Given the description of an element on the screen output the (x, y) to click on. 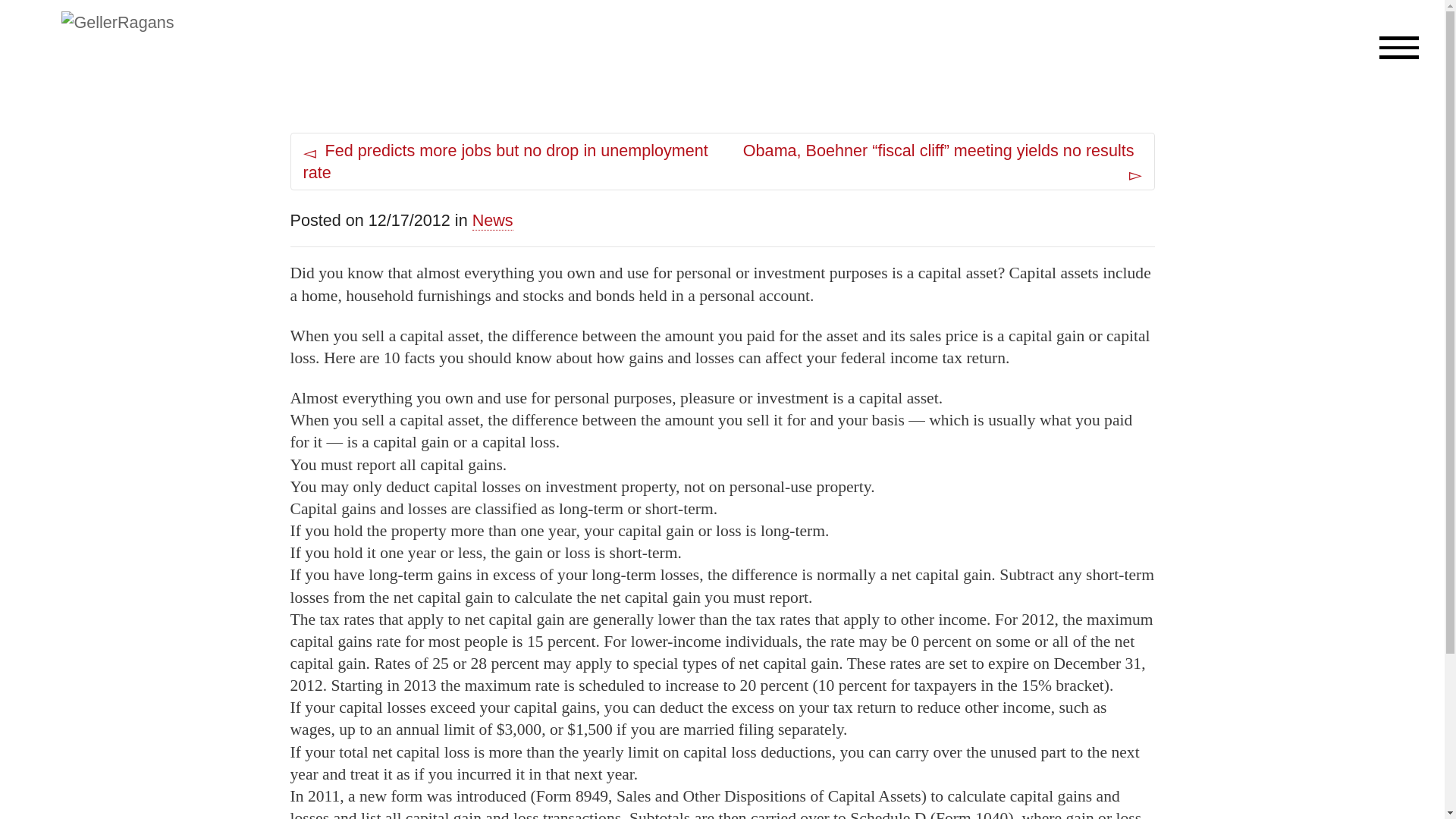
Fed predicts more jobs but no drop in unemployment rate (506, 161)
News (492, 220)
